Given the description of an element on the screen output the (x, y) to click on. 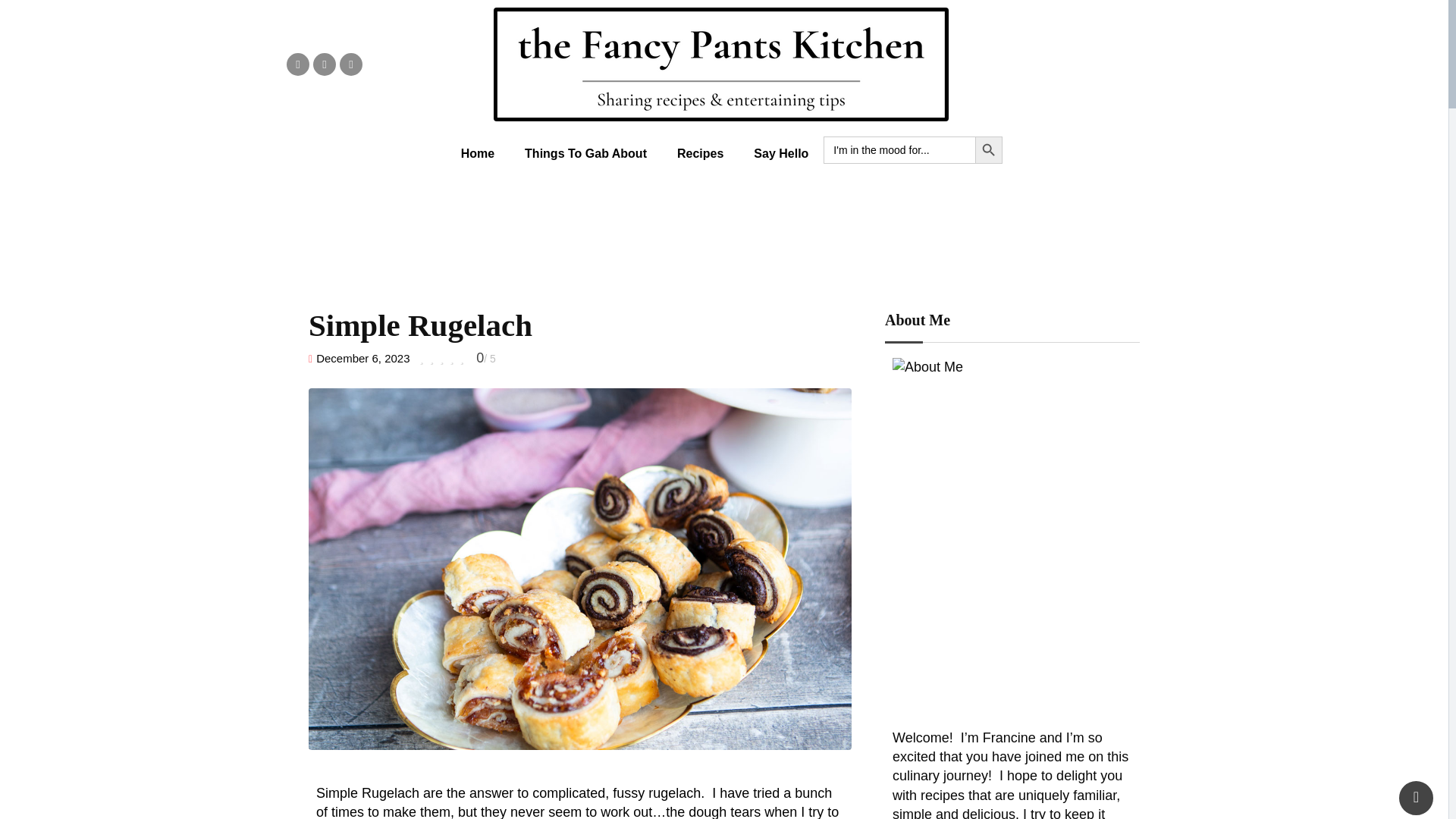
Home (477, 153)
Recipes (700, 153)
Search Button (989, 149)
Things To Gab About (585, 153)
Say Hello (781, 153)
